Given the description of an element on the screen output the (x, y) to click on. 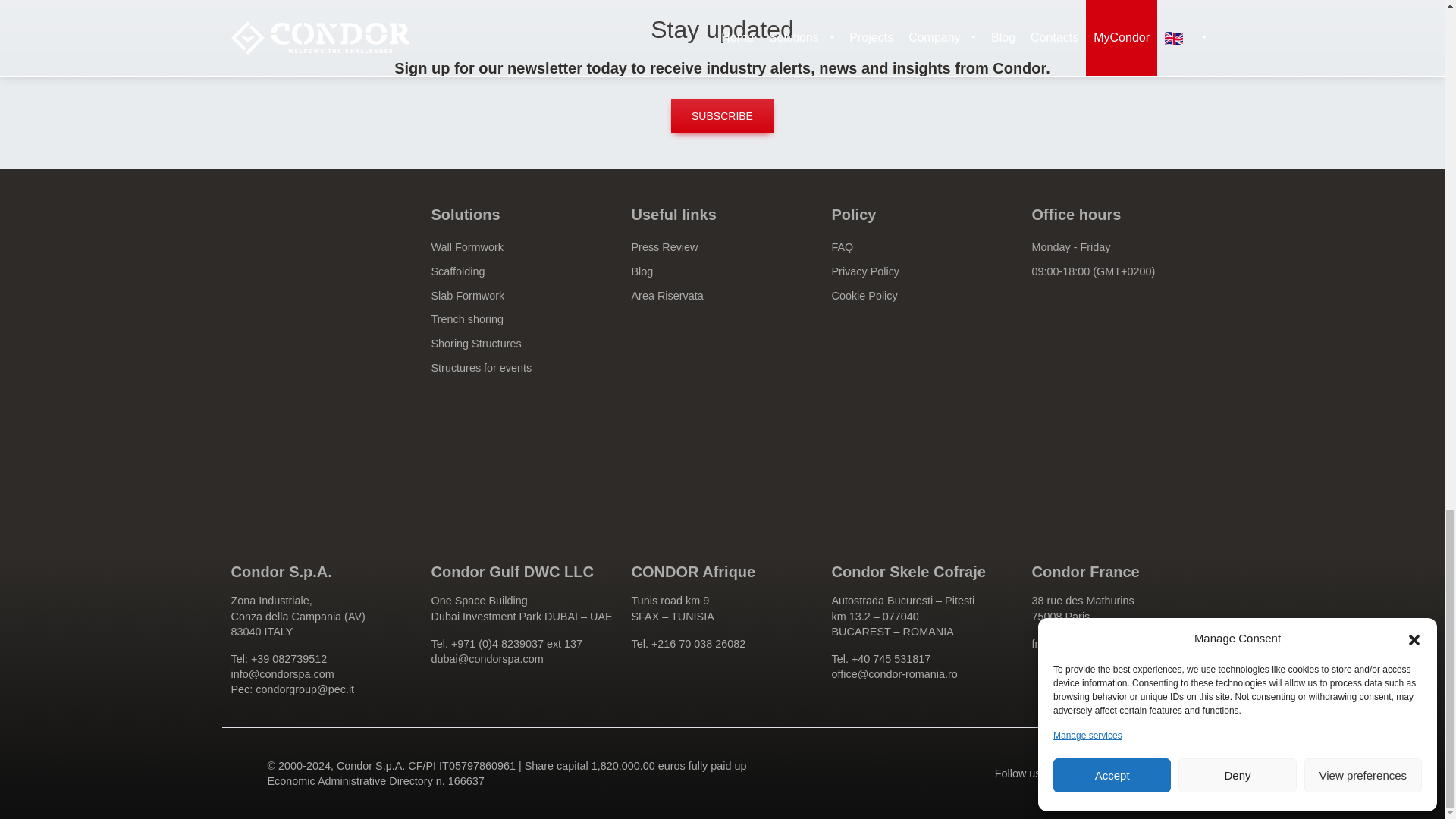
CONDOR su Facebook (1118, 773)
CONDOR su LinkedIn (1079, 773)
CONDOR su Instagram (1157, 773)
CONDOR su YouTube (1197, 773)
